Given the description of an element on the screen output the (x, y) to click on. 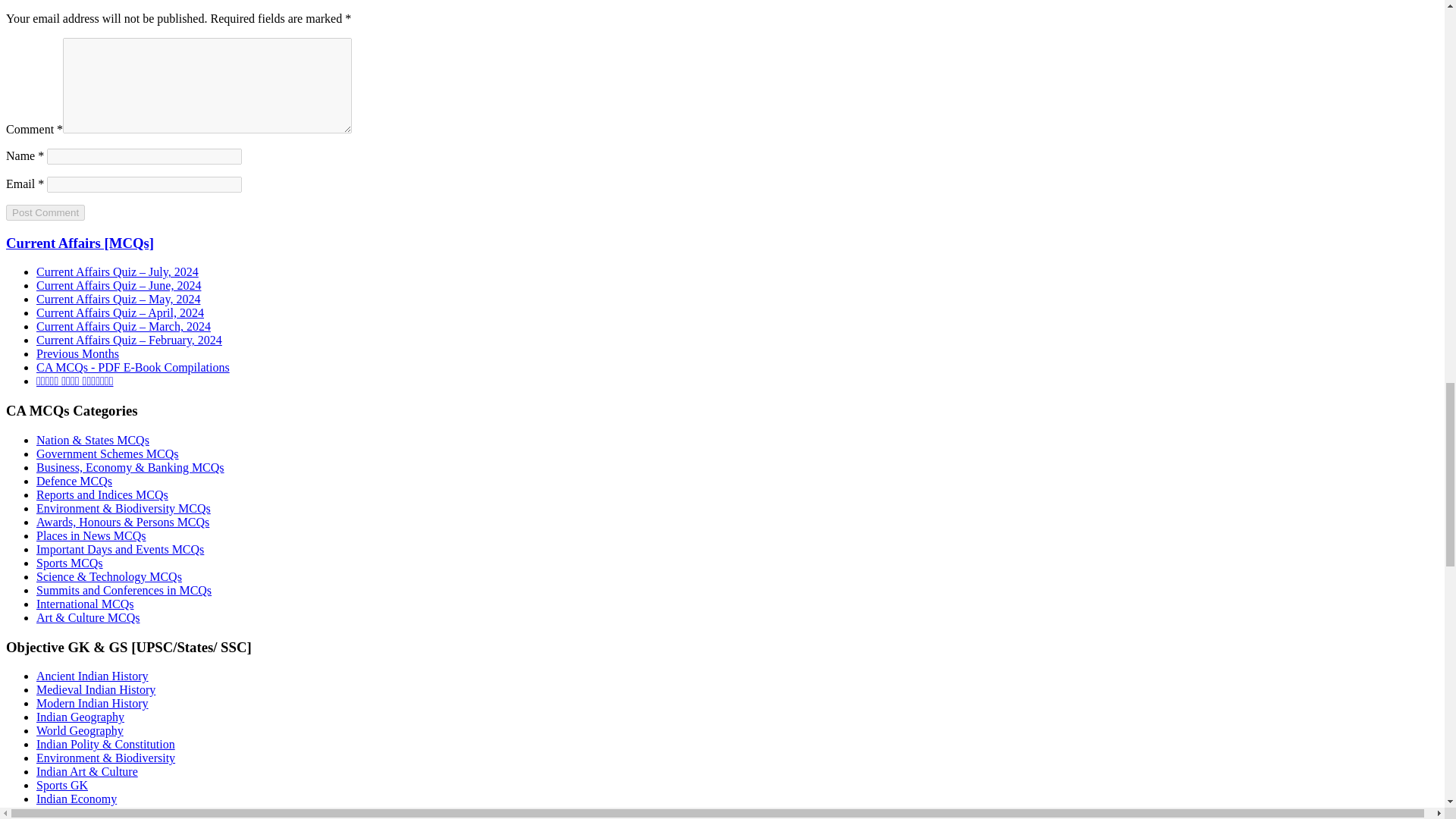
Government Schemes MCQs (107, 453)
Reports and Indices MCQs (102, 494)
Previous Months (77, 353)
Defence MCQs (74, 481)
CA MCQs - PDF E-Book Compilations (133, 367)
Post Comment (44, 212)
Post Comment (44, 212)
